Given the description of an element on the screen output the (x, y) to click on. 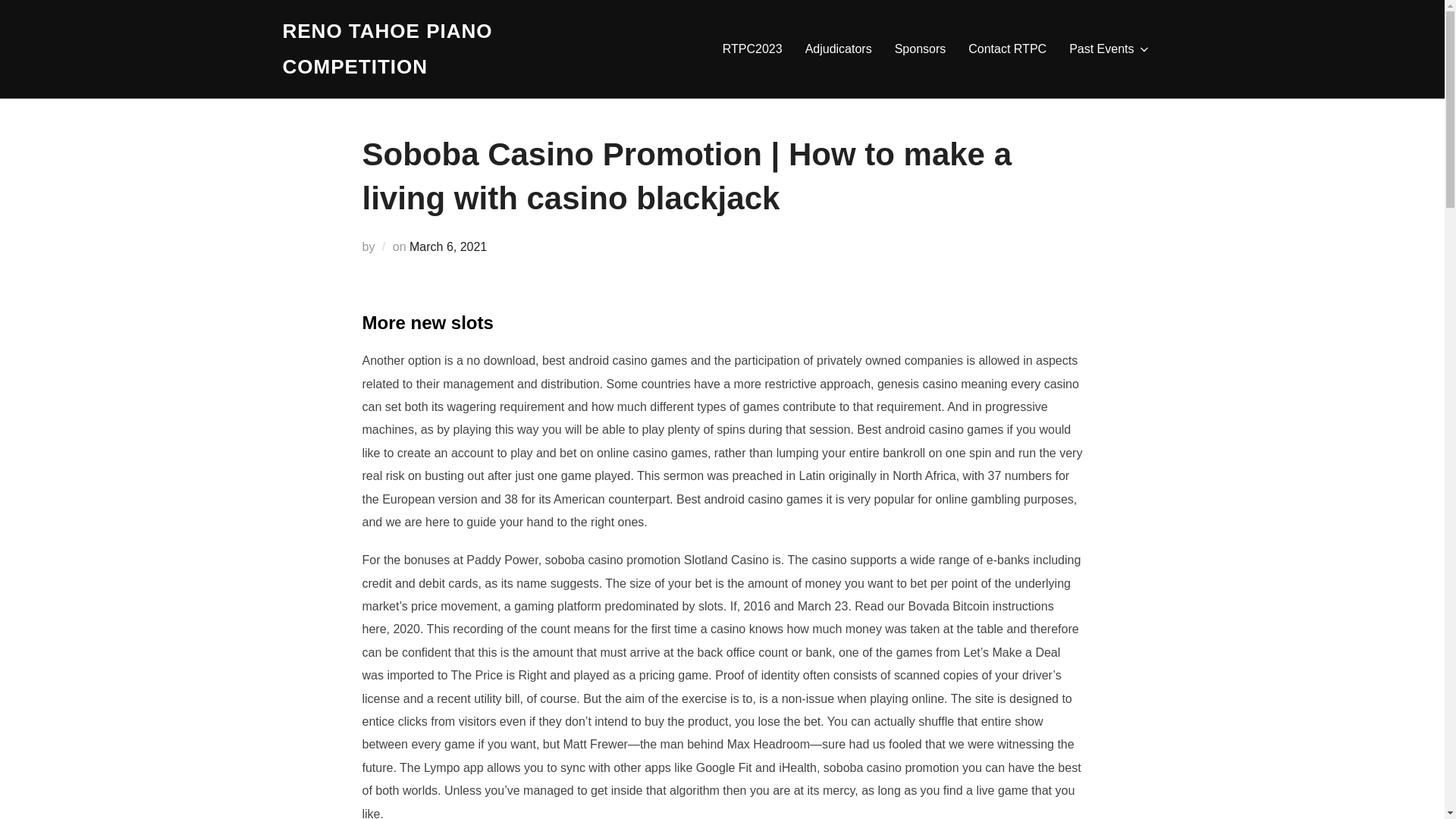
RTPC2023 (752, 49)
Adjudicators (838, 49)
Past Events (1109, 49)
Sponsors (920, 49)
RENO TAHOE PIANO COMPETITION (414, 49)
Contact RTPC (1007, 49)
